Given the description of an element on the screen output the (x, y) to click on. 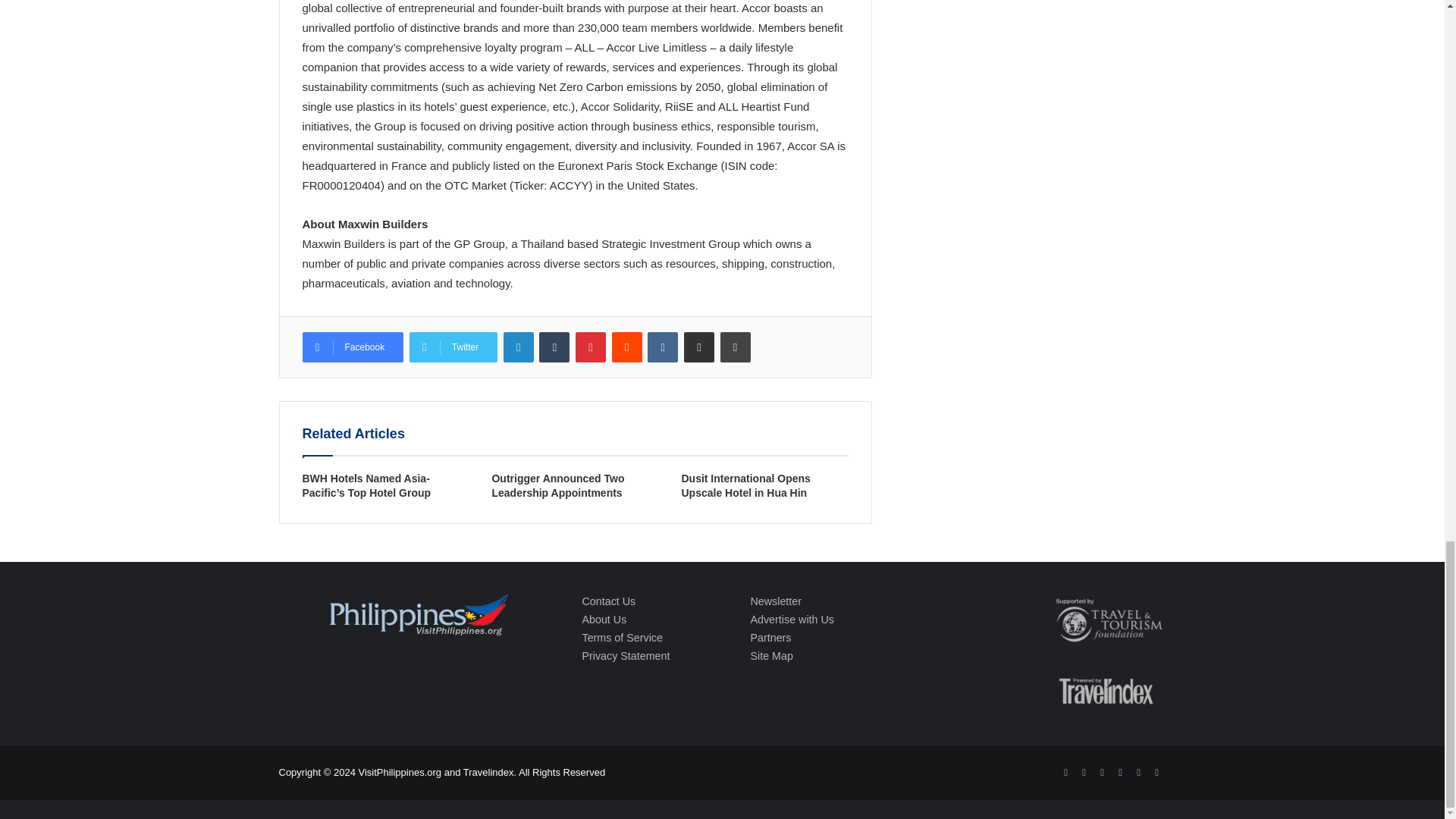
Share via Email (699, 347)
Pinterest (590, 347)
Twitter (453, 347)
Reddit (626, 347)
Print (735, 347)
LinkedIn (518, 347)
Tumblr (553, 347)
VKontakte (662, 347)
Facebook (352, 347)
